Given the description of an element on the screen output the (x, y) to click on. 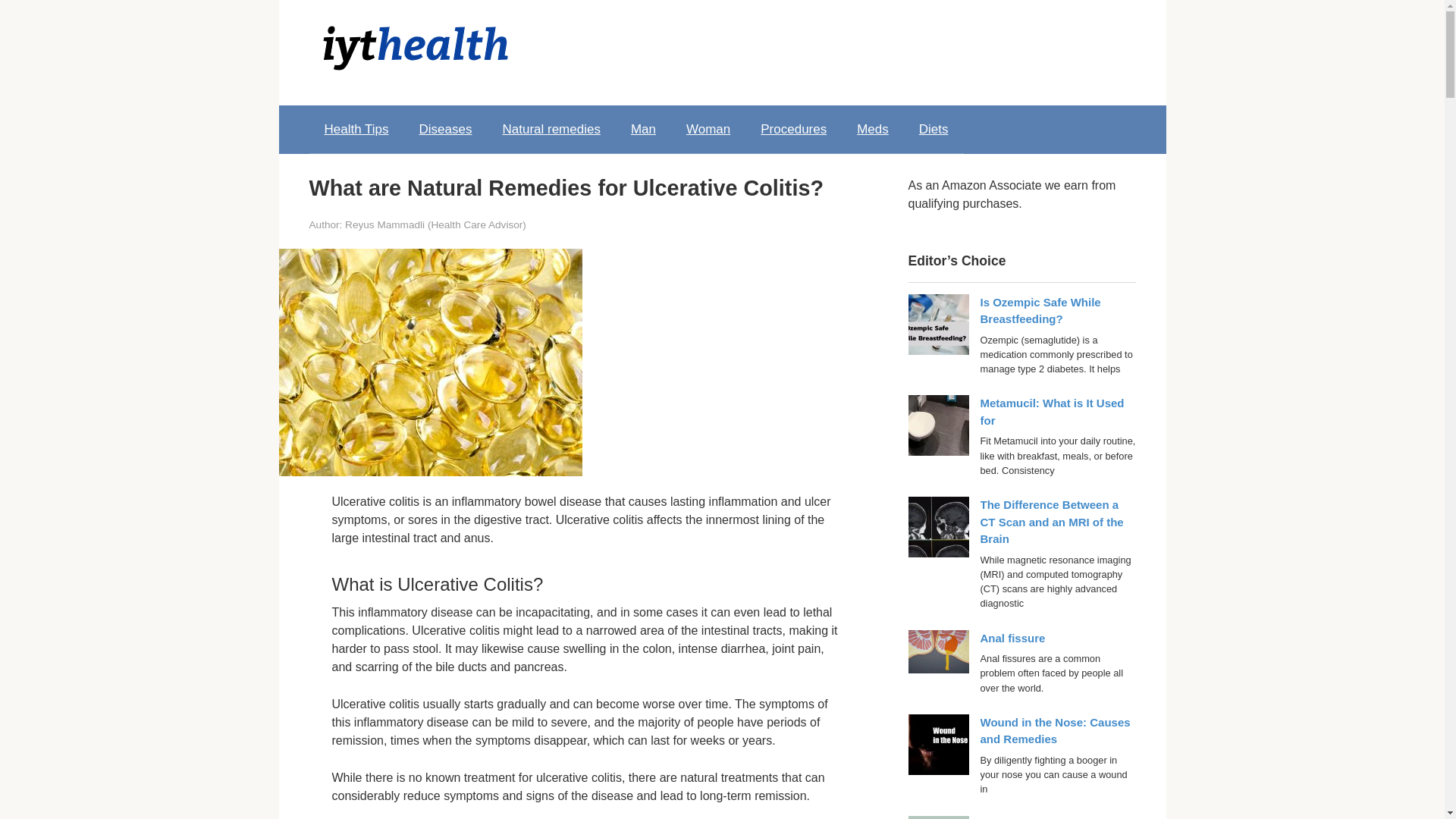
Man (643, 129)
Diseases (445, 129)
Health Tips (356, 129)
Meds (872, 129)
Procedures (793, 129)
Anal fissure (1012, 637)
Wound in the Nose: Causes and Remedies (1054, 730)
Natural remedies (550, 129)
The Difference Between a CT Scan and an MRI of the Brain (1050, 521)
Diets (933, 129)
Woman (708, 129)
How to Reduce the Risk of Cardiovascular Disease (1050, 818)
Metamucil: What is It Used for (1051, 411)
Is Ozempic Safe While Breastfeeding? (1039, 310)
